Given the description of an element on the screen output the (x, y) to click on. 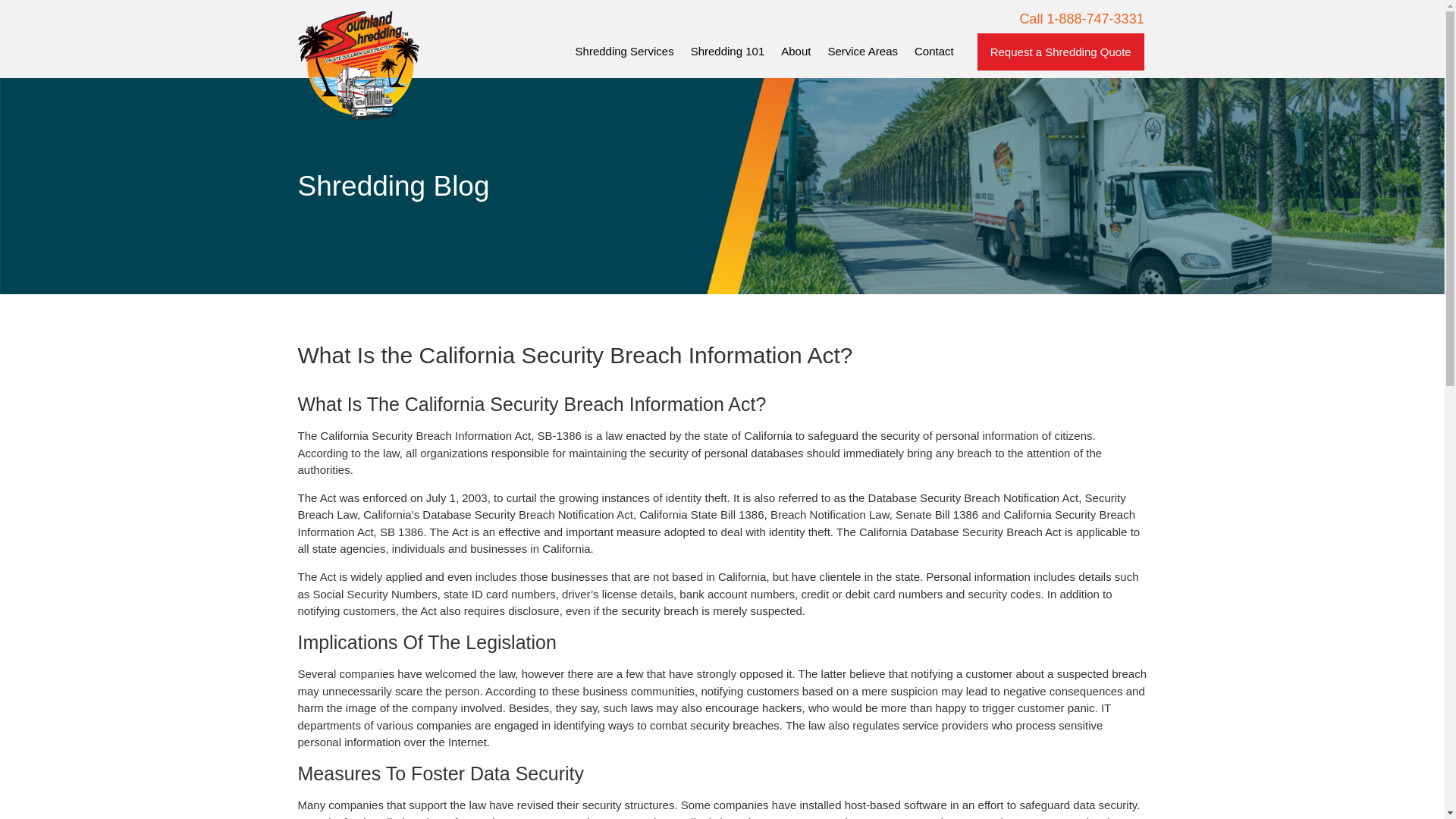
Shredding Services (624, 51)
Contact (933, 51)
Call 1-888-747-3331 (1082, 17)
Service Areas (861, 51)
Shredding 101 (727, 51)
About (795, 51)
Request a Shredding Quote (1060, 51)
